Given the description of an element on the screen output the (x, y) to click on. 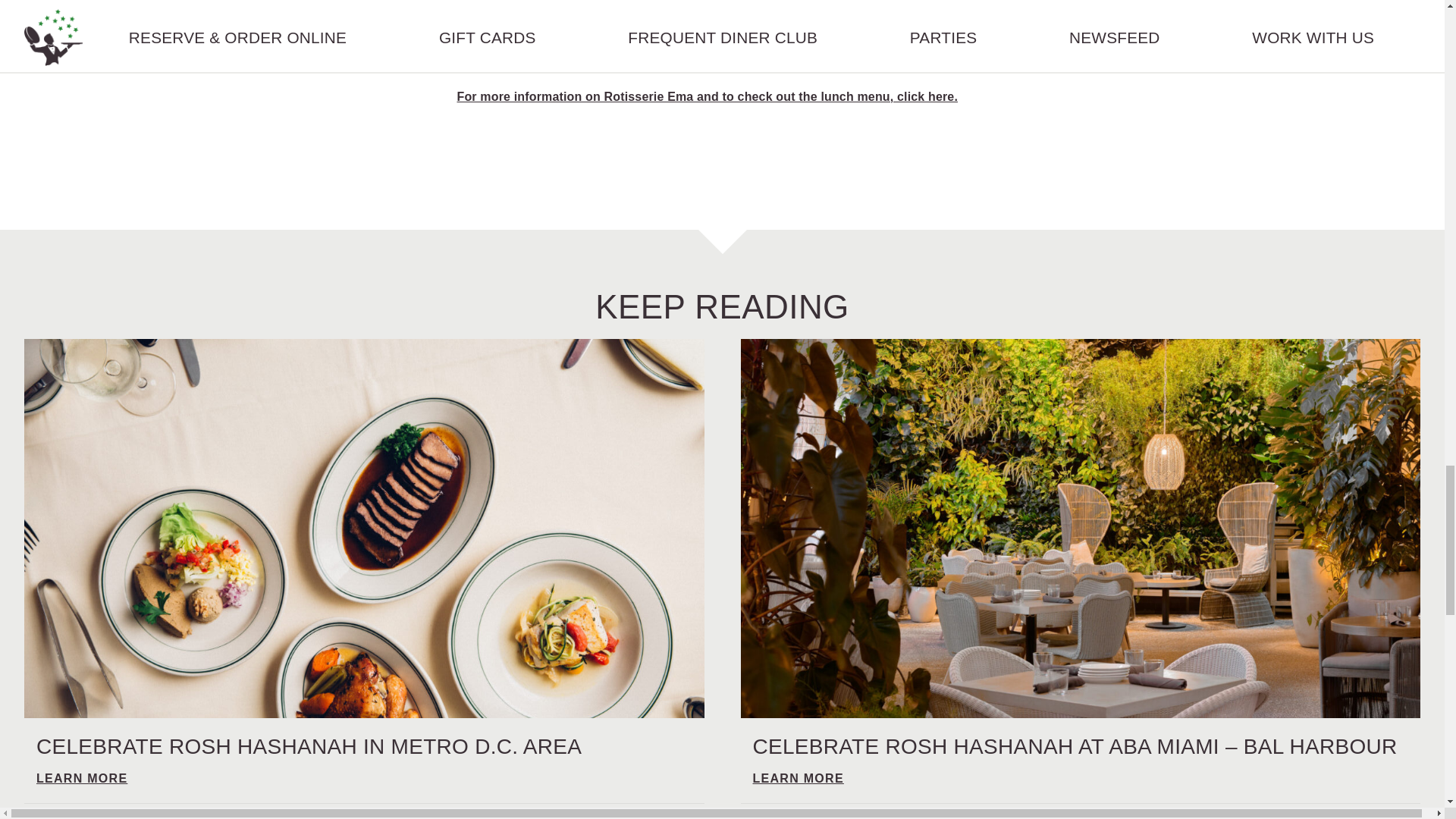
Order Rotisserie Ema To-Go for carryout or delivery (700, 54)
